Given the description of an element on the screen output the (x, y) to click on. 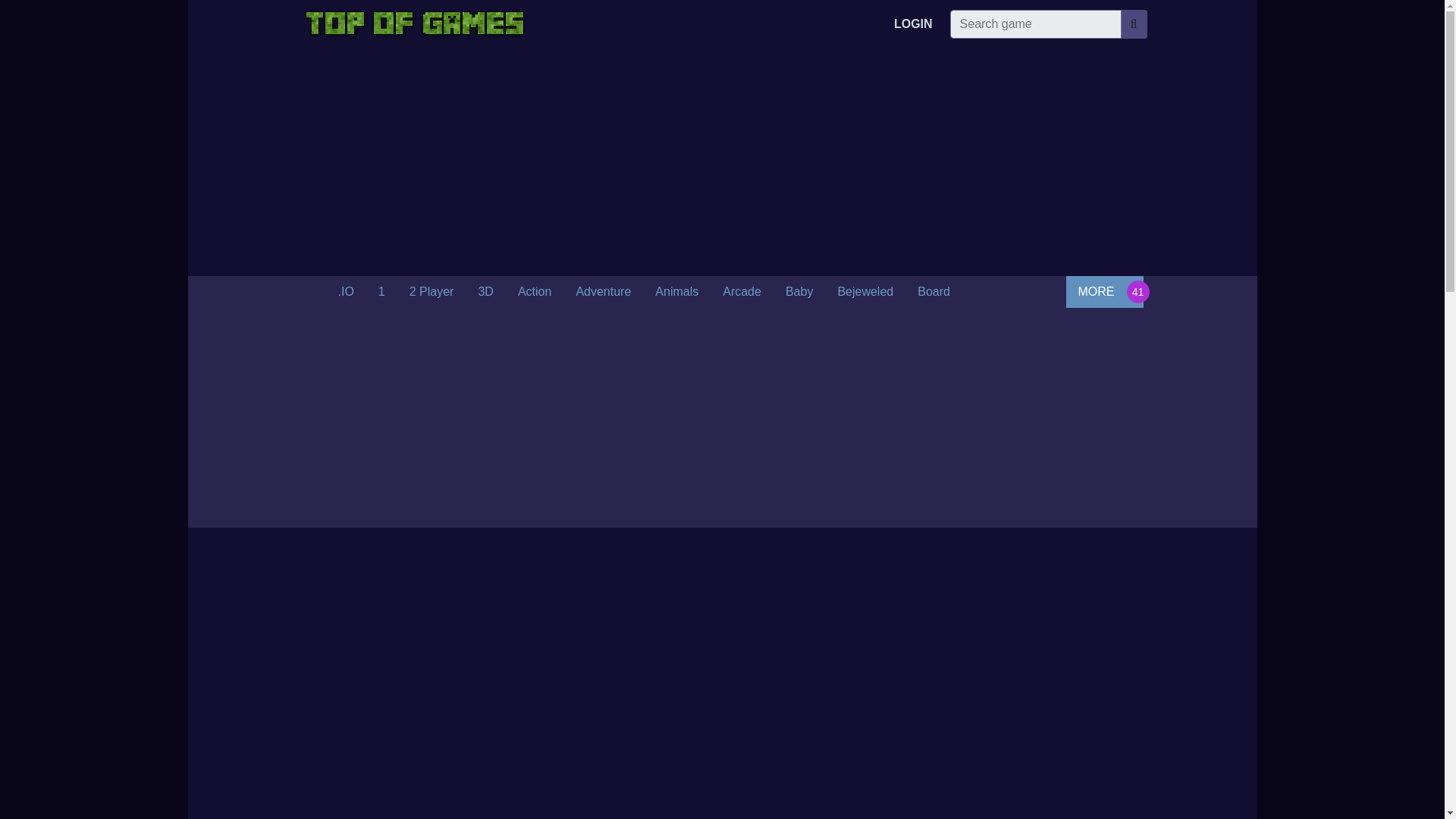
3D (485, 291)
Bejeweled (865, 291)
LOGIN (913, 24)
Adventure (603, 291)
Board (933, 291)
Action (534, 291)
1 (381, 291)
.IO (346, 291)
